Given the description of an element on the screen output the (x, y) to click on. 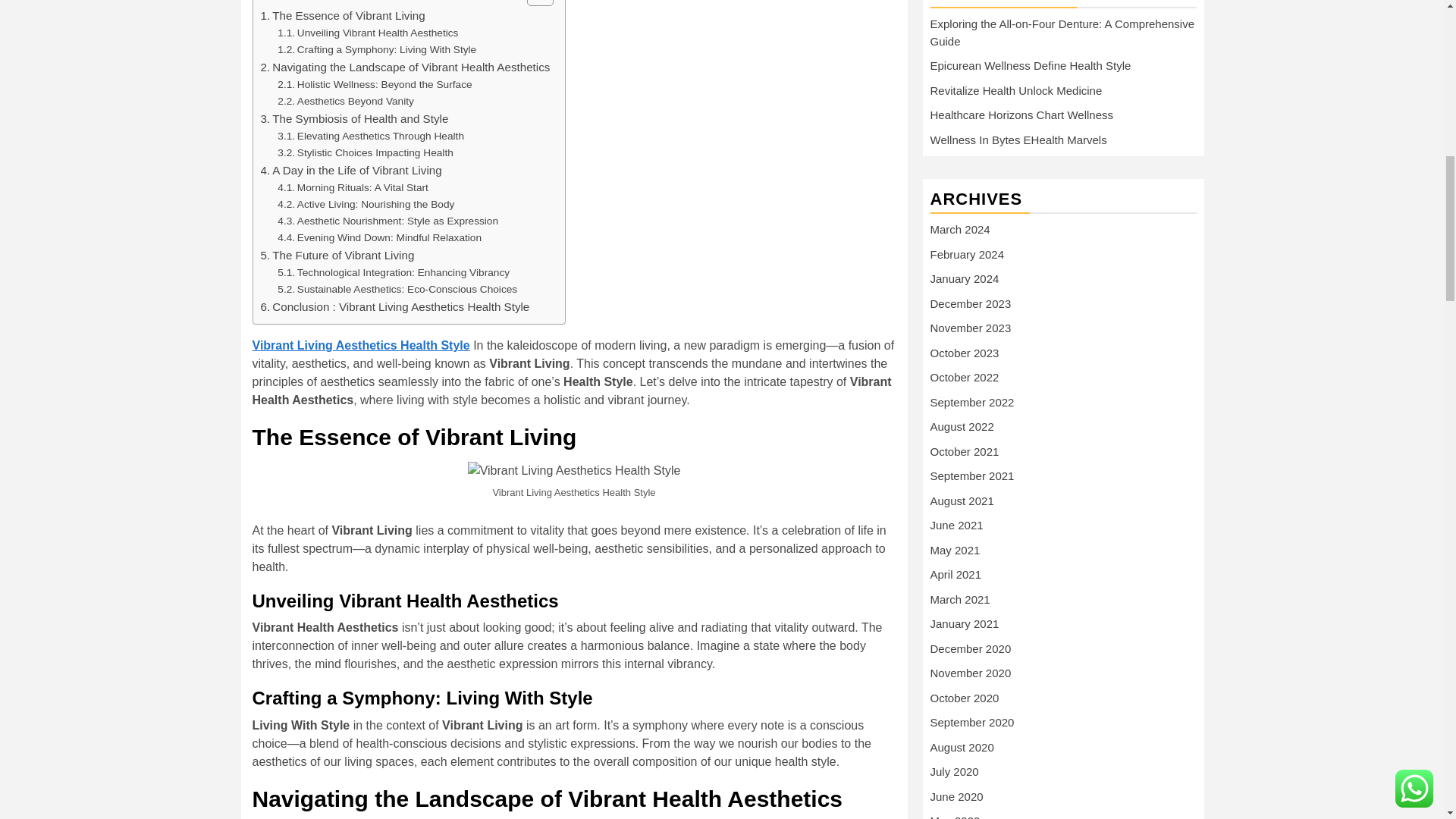
The Essence of Vibrant Living (342, 15)
Active Living: Nourishing the Body (366, 204)
Sustainable Aesthetics: Eco-Conscious Choices (397, 289)
Holistic Wellness: Beyond the Surface (374, 84)
Crafting a Symphony: Living With Style (377, 49)
Morning Rituals: A Vital Start (353, 187)
Navigating the Landscape of Vibrant Health Aesthetics (405, 67)
Active Living: Nourishing the Body (366, 204)
A Day in the Life of Vibrant Living (351, 170)
Aesthetics Beyond Vanity (345, 101)
